Given the description of an element on the screen output the (x, y) to click on. 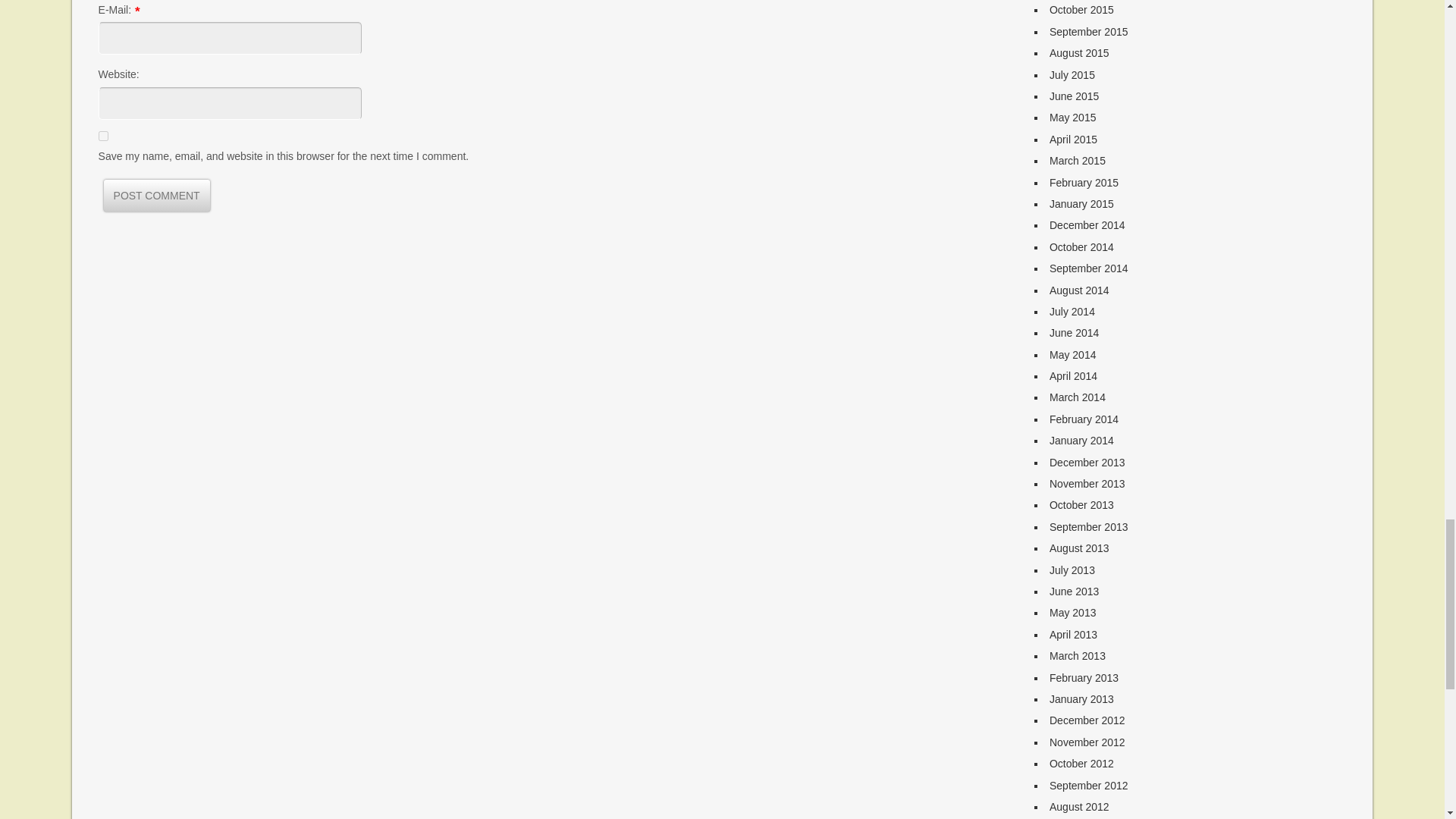
Post Comment (156, 195)
yes (103, 135)
Post Comment (156, 195)
